Given the description of an element on the screen output the (x, y) to click on. 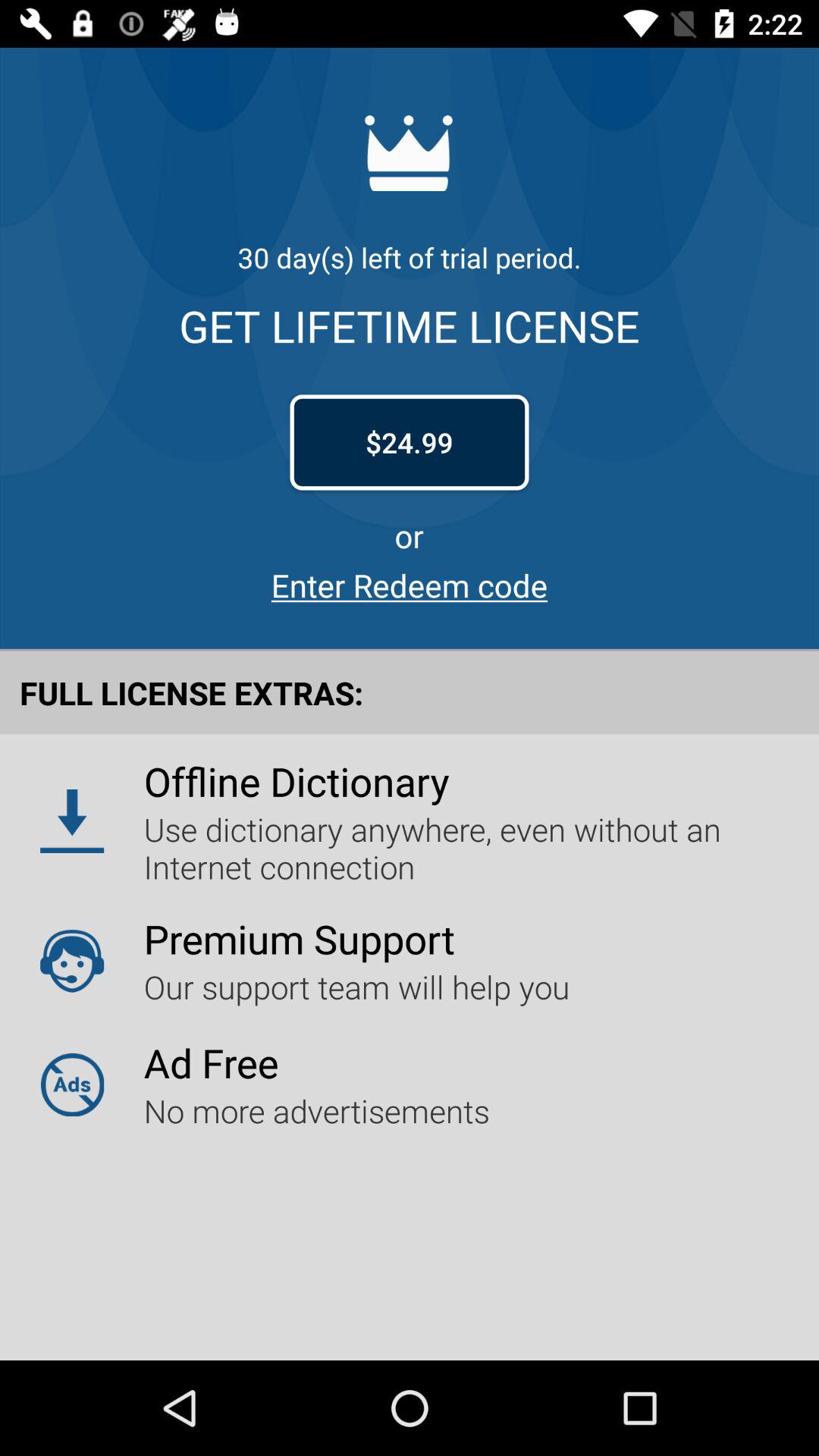
turn off item below the or (409, 584)
